Given the description of an element on the screen output the (x, y) to click on. 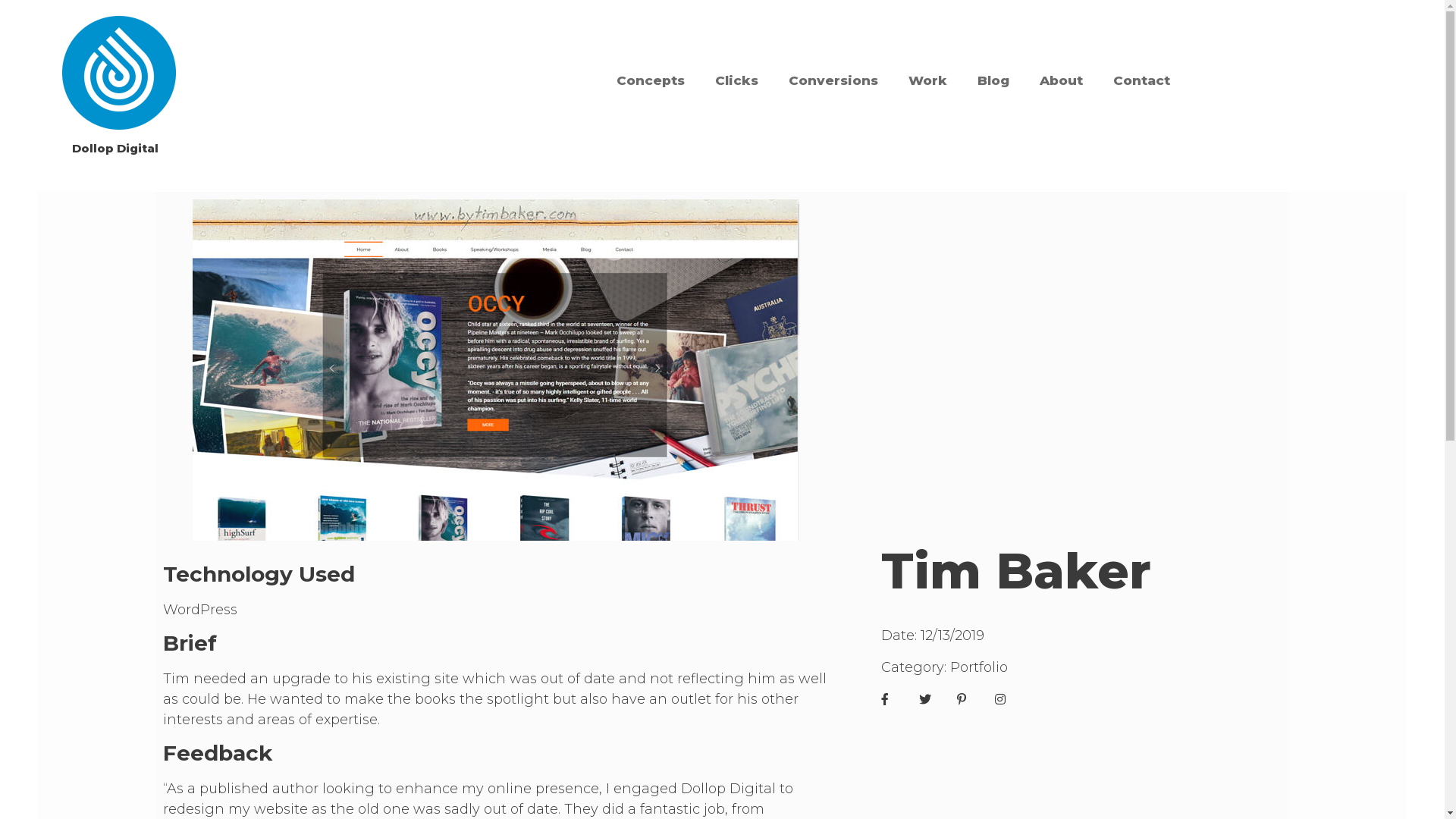
Work Element type: text (927, 80)
About Element type: text (1061, 80)
dollop-media-logov2 Element type: hover (118, 72)
Blog Element type: text (993, 80)
Clicks Element type: text (736, 80)
Concepts Element type: text (650, 80)
Contact Element type: text (1141, 80)
Conversions Element type: text (833, 80)
